Given the description of an element on the screen output the (x, y) to click on. 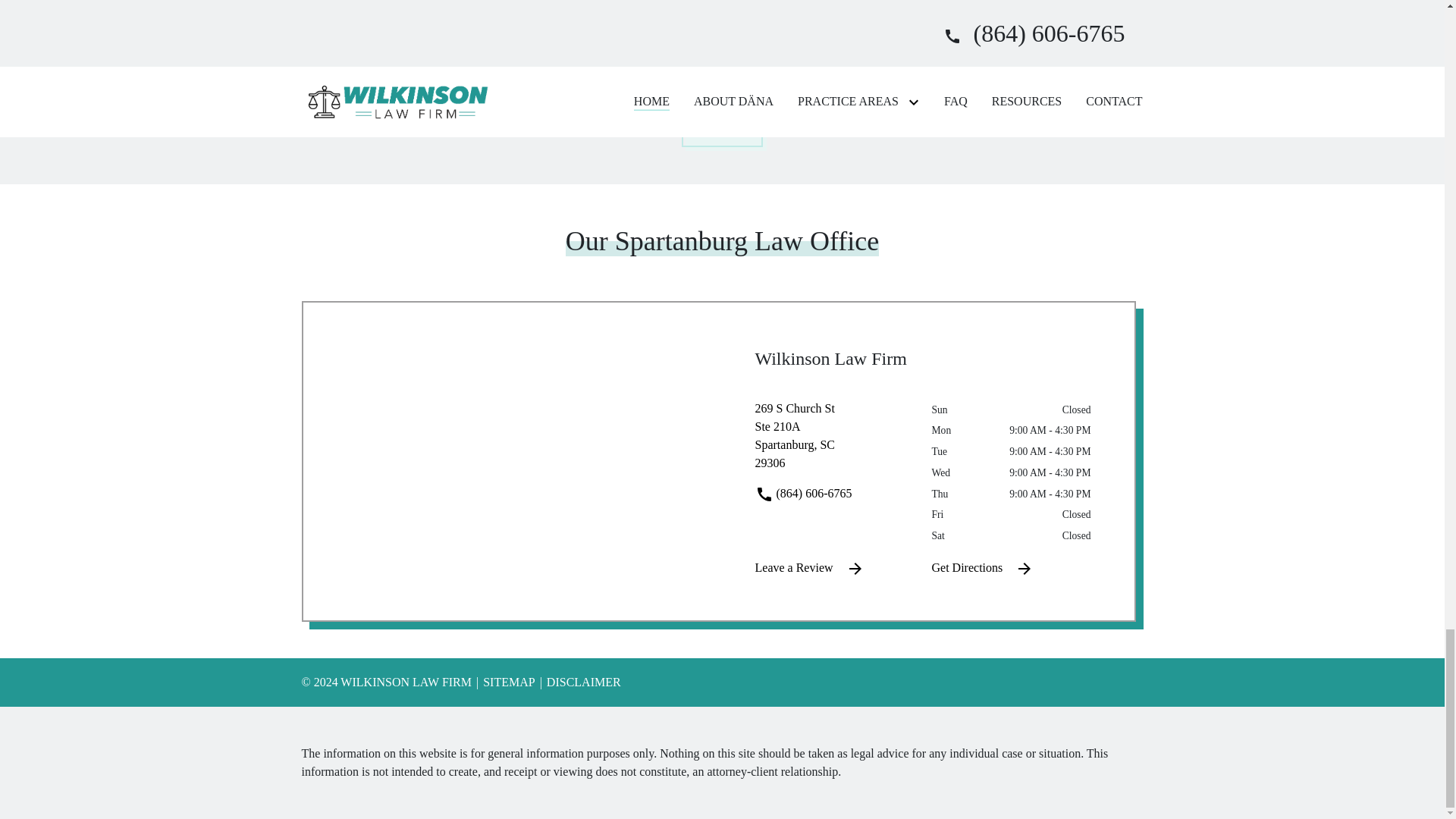
Get Directions (1007, 568)
Leave a Review (831, 568)
DISCLAIMER (579, 681)
Submit (831, 441)
SITEMAP (721, 126)
